Given the description of an element on the screen output the (x, y) to click on. 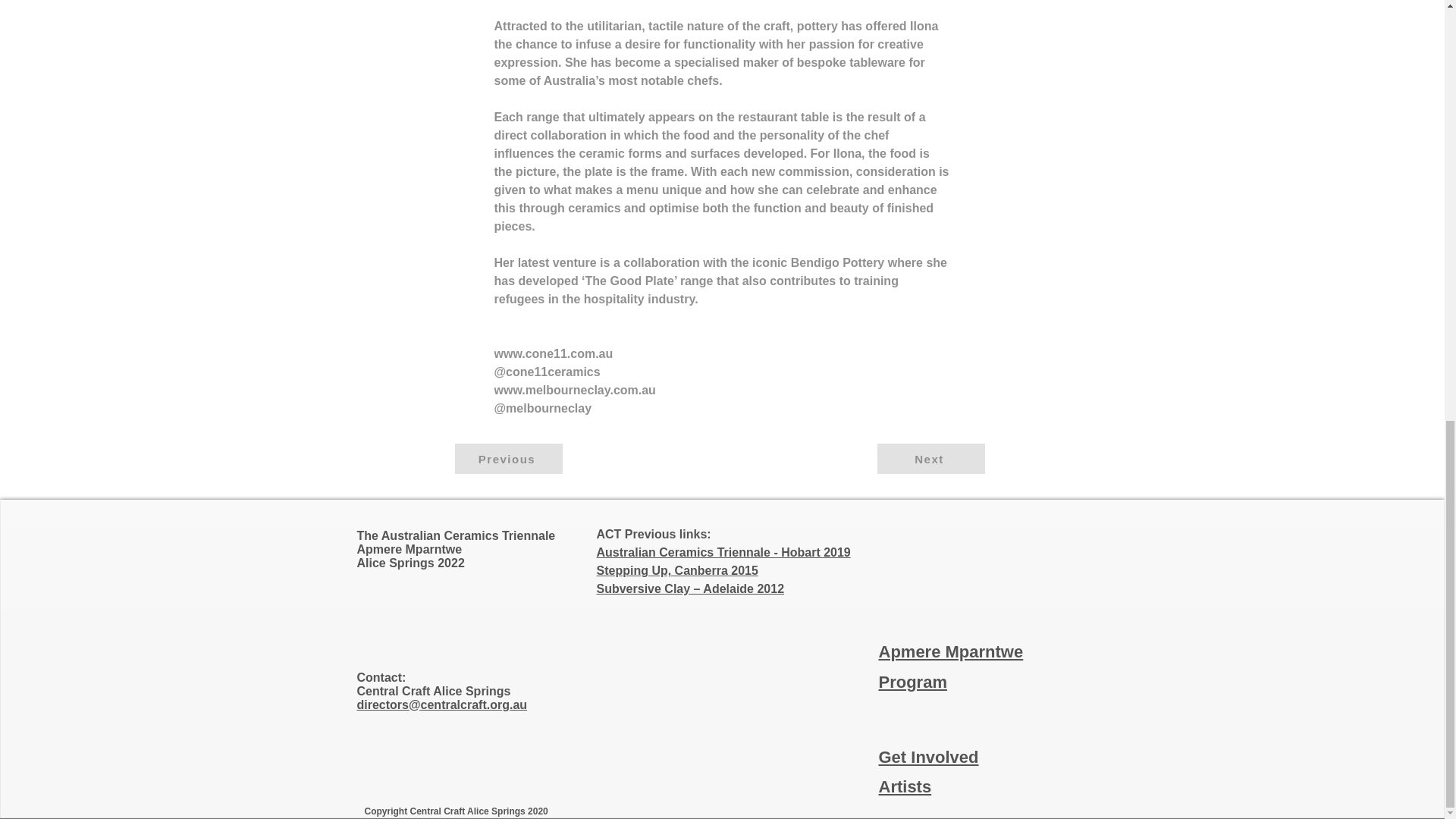
Previous (508, 458)
Program (911, 681)
Artists (904, 786)
Get Involved (927, 756)
Next (930, 458)
www.melbourneclay.com.au (575, 390)
Australian Ceramics Triennale - Hobart 2019 (722, 552)
Apmere Mparntwe (950, 651)
www.cone11.com.au (553, 353)
Stepping Up, Canberra 2015 (676, 570)
